Given the description of an element on the screen output the (x, y) to click on. 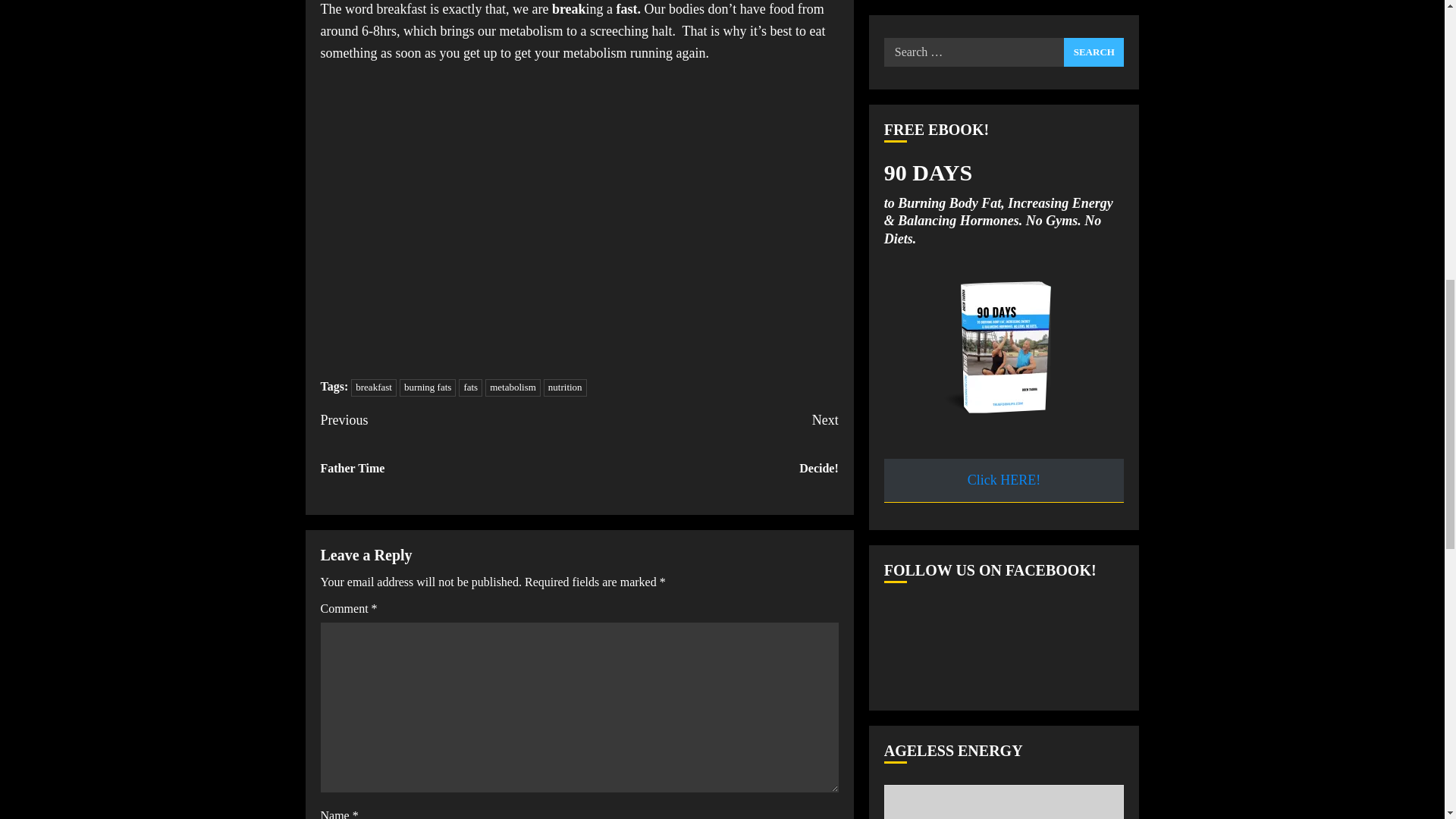
breakfast (373, 387)
